Given the description of an element on the screen output the (x, y) to click on. 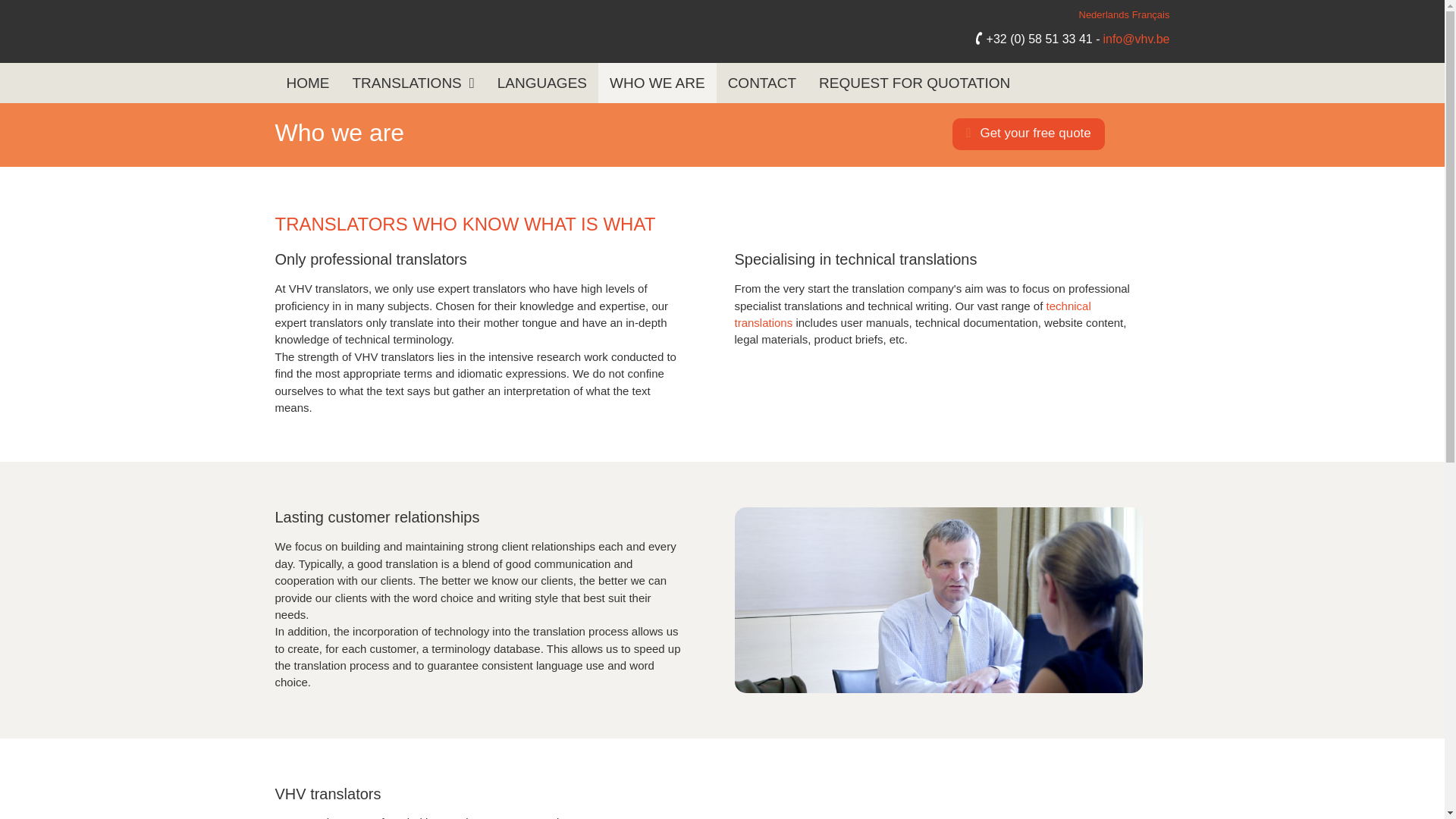
technical translations (911, 314)
REQUEST FOR QUOTATION (915, 83)
Technical Translation (911, 314)
WHO WE ARE (657, 83)
Nederlands (1103, 14)
Get your free quote (1028, 133)
CONTACT (762, 83)
HOME (307, 83)
LANGUAGES (542, 83)
